Given the description of an element on the screen output the (x, y) to click on. 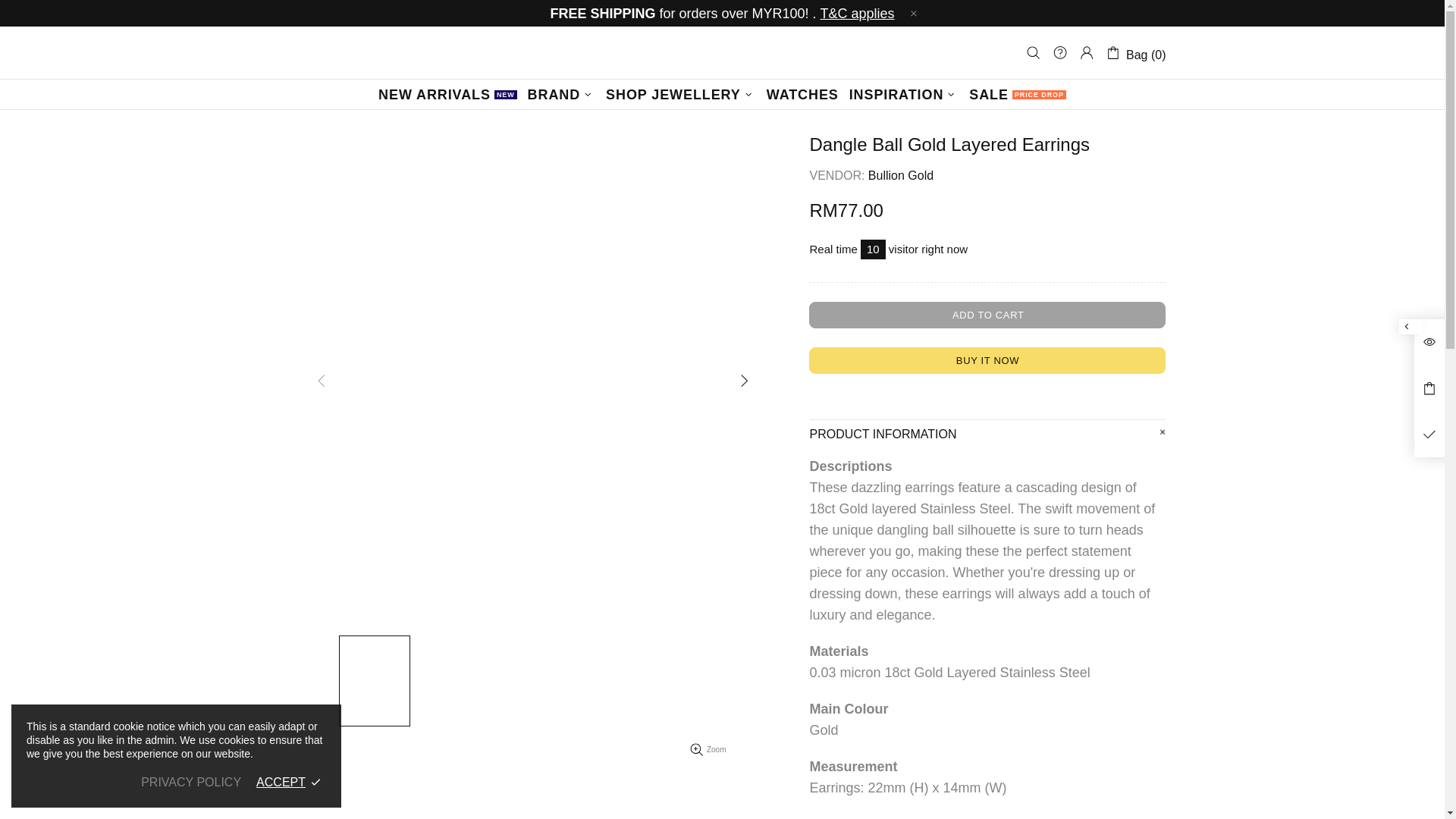
SHOP JEWELLERY (680, 94)
INSPIRATION (903, 94)
ADD TO CART (987, 315)
Bullion Gold (900, 175)
WATCHES (447, 94)
Brilliant Co Asia (802, 94)
BRAND (721, 53)
